Given the description of an element on the screen output the (x, y) to click on. 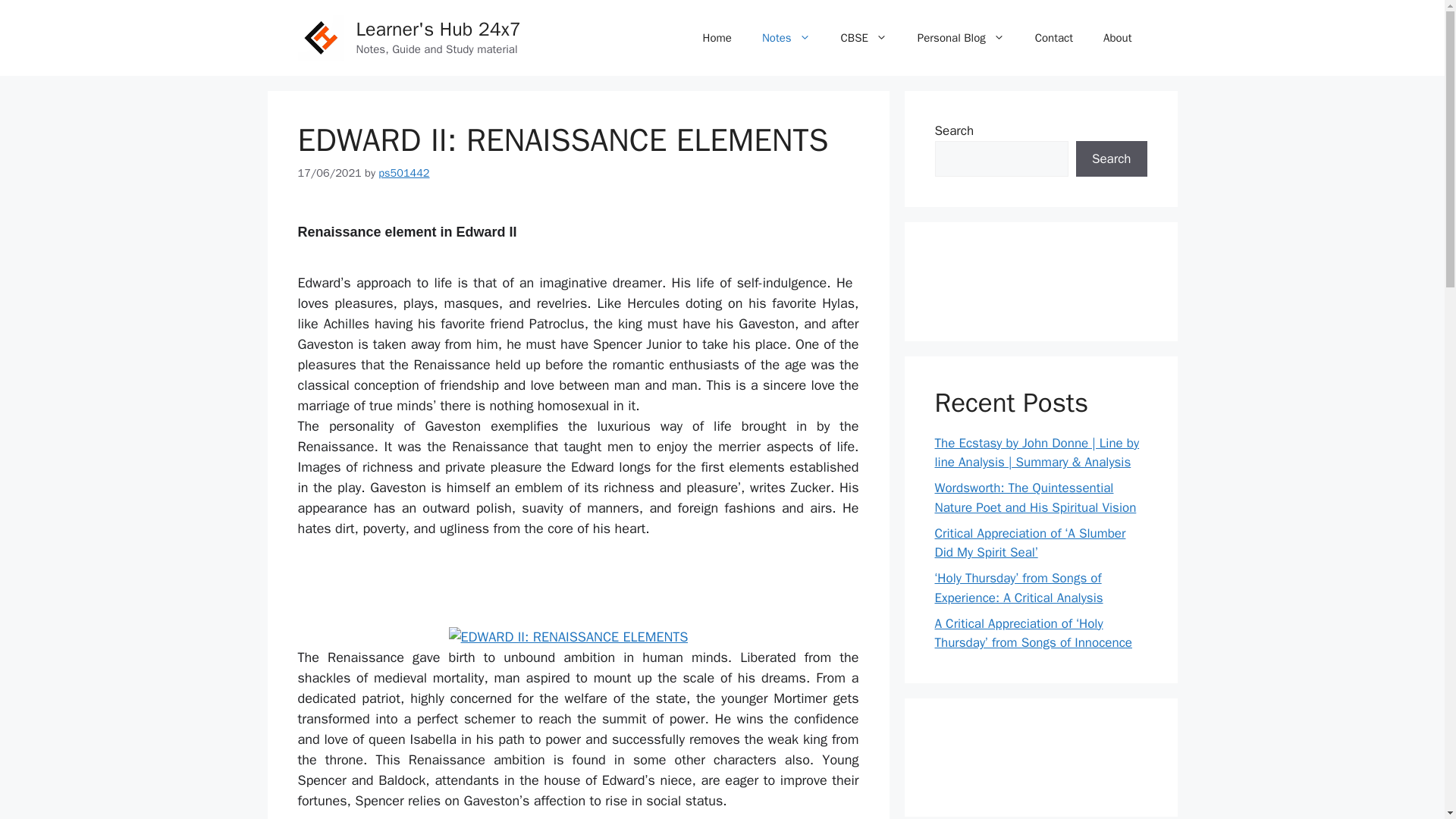
Learner's Hub 24x7 (438, 28)
Personal Blog (961, 37)
Home (716, 37)
About (1117, 37)
Contact (1053, 37)
ps501442 (403, 172)
CBSE (863, 37)
Notes (785, 37)
Search (1111, 158)
View all posts by ps501442 (403, 172)
EDWARD II: RENAISSANCE ELEMENTS (568, 637)
